Given the description of an element on the screen output the (x, y) to click on. 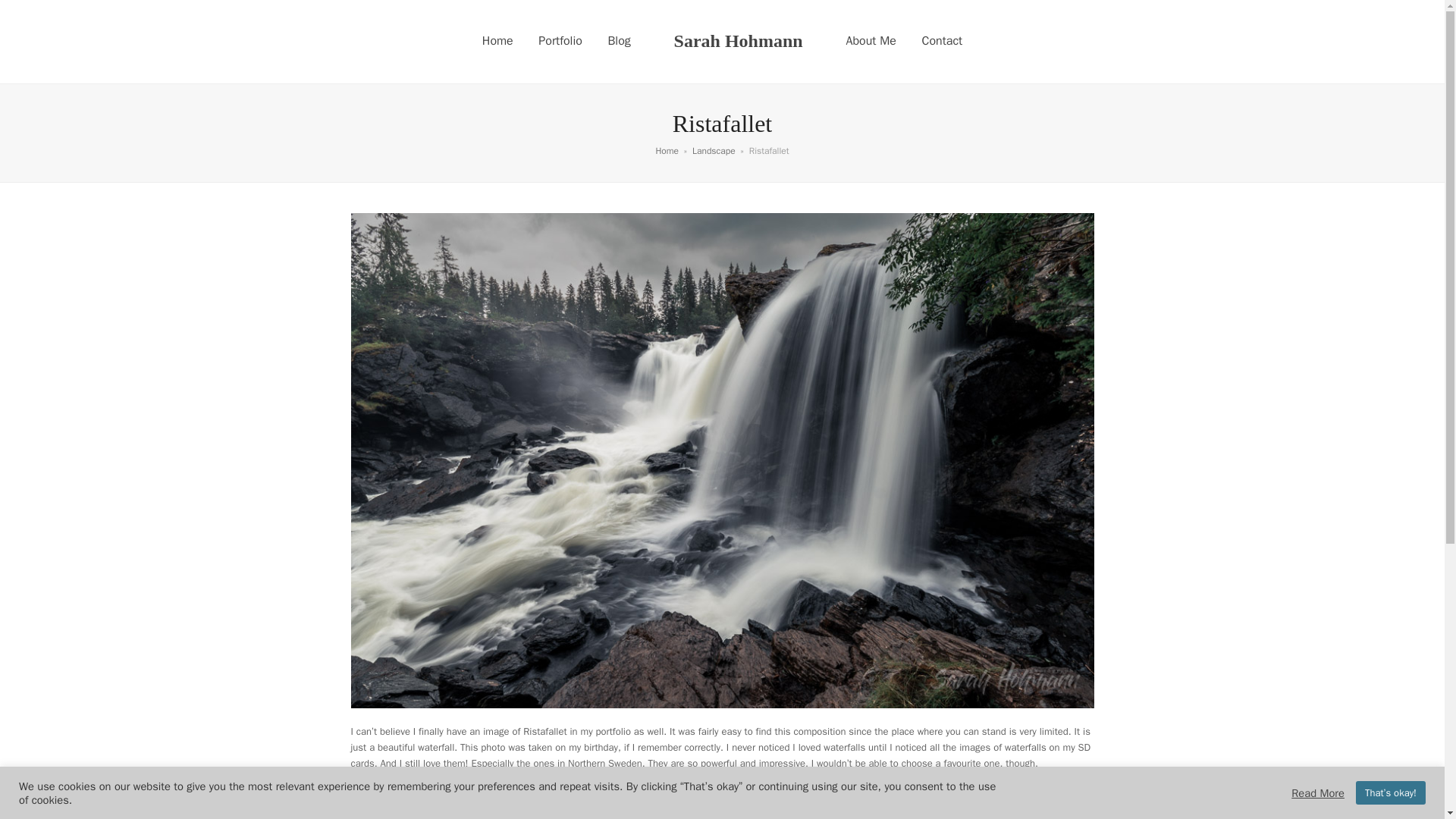
Blog (619, 41)
About Me (870, 41)
Sarah Hohmann (738, 40)
Portfolio (560, 41)
Home (496, 41)
Contact (941, 41)
Landscape (714, 150)
Read More (1317, 792)
Home (666, 150)
